Given the description of an element on the screen output the (x, y) to click on. 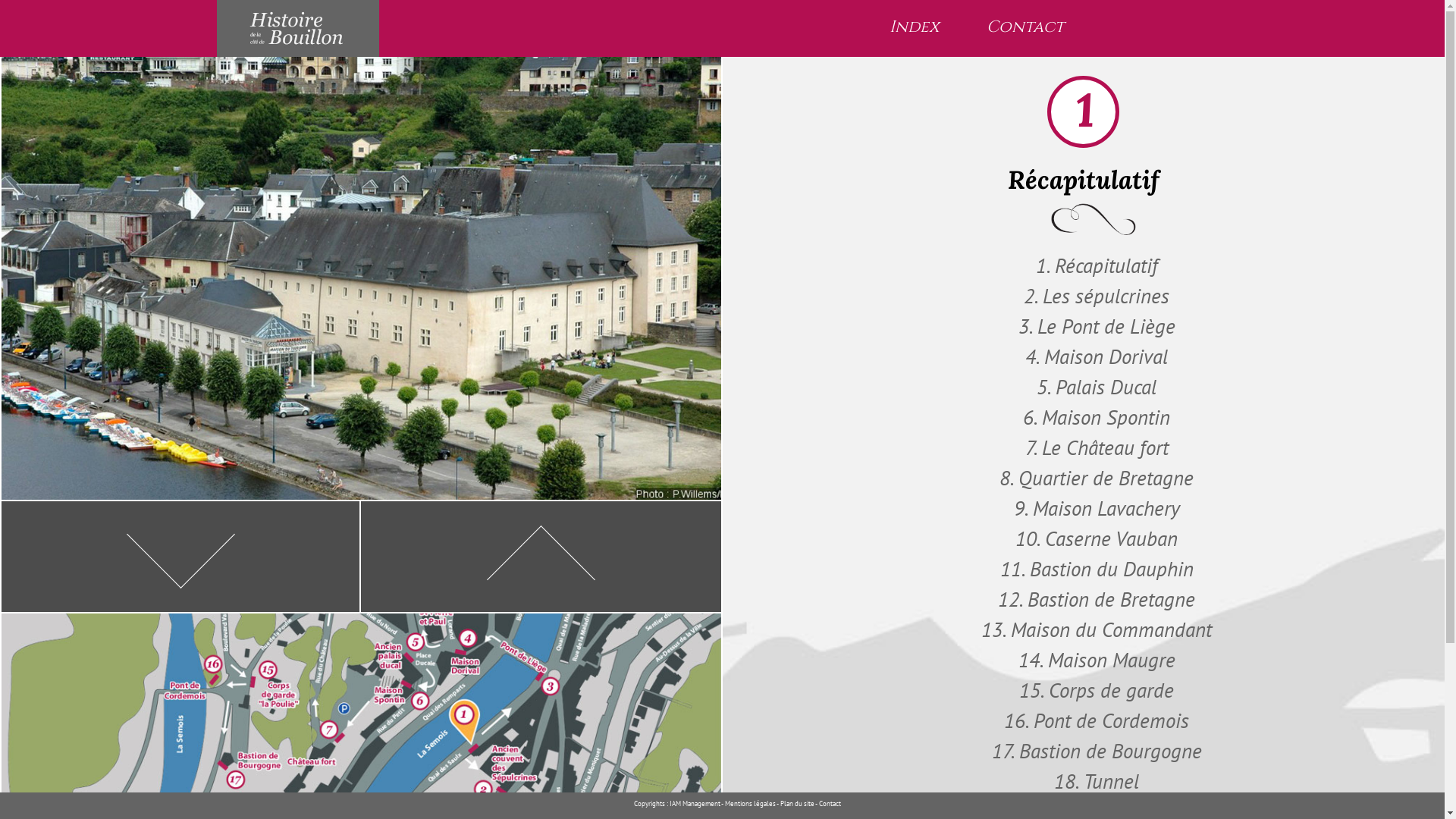
Caserne Vauban Element type: text (1096, 538)
Quartier de Bretagne Element type: text (1096, 477)
Bastion du Dauphin Element type: text (1096, 568)
Maison Dorival Element type: text (1096, 356)
Bastion de Bourgogne Element type: text (1096, 750)
Palais Ducal Element type: text (1096, 386)
Index Element type: text (913, 26)
IAM Management Element type: text (694, 802)
Tunnel Element type: text (1096, 780)
Maison Spontin Element type: text (1096, 416)
Maison du Commandant Element type: text (1096, 629)
Contact Element type: text (1024, 26)
Corps de garde Element type: text (1096, 689)
Bastion de Bretagne Element type: text (1096, 598)
Maison Lavachery Element type: text (1096, 507)
Pont de Cordemois Element type: text (1096, 720)
Plan du site Element type: text (797, 802)
Maison Maugre Element type: text (1096, 659)
Contact Element type: text (829, 802)
